Given the description of an element on the screen output the (x, y) to click on. 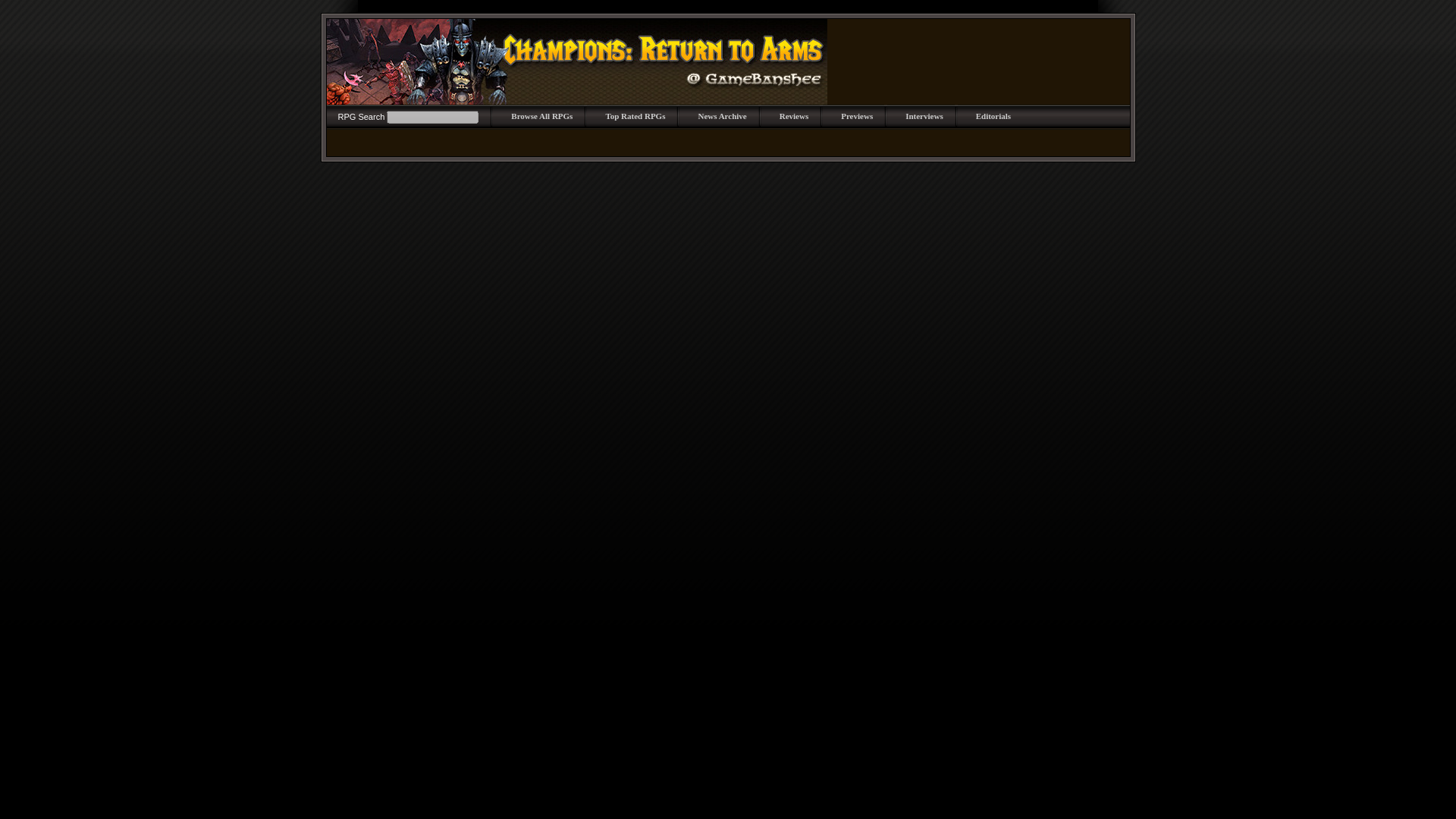
Editorials (992, 115)
Previews (856, 115)
Top Rated RPGs (635, 115)
Browse All RPGs (541, 115)
Reviews (793, 115)
Interviews (924, 115)
News Archive (721, 115)
